Given the description of an element on the screen output the (x, y) to click on. 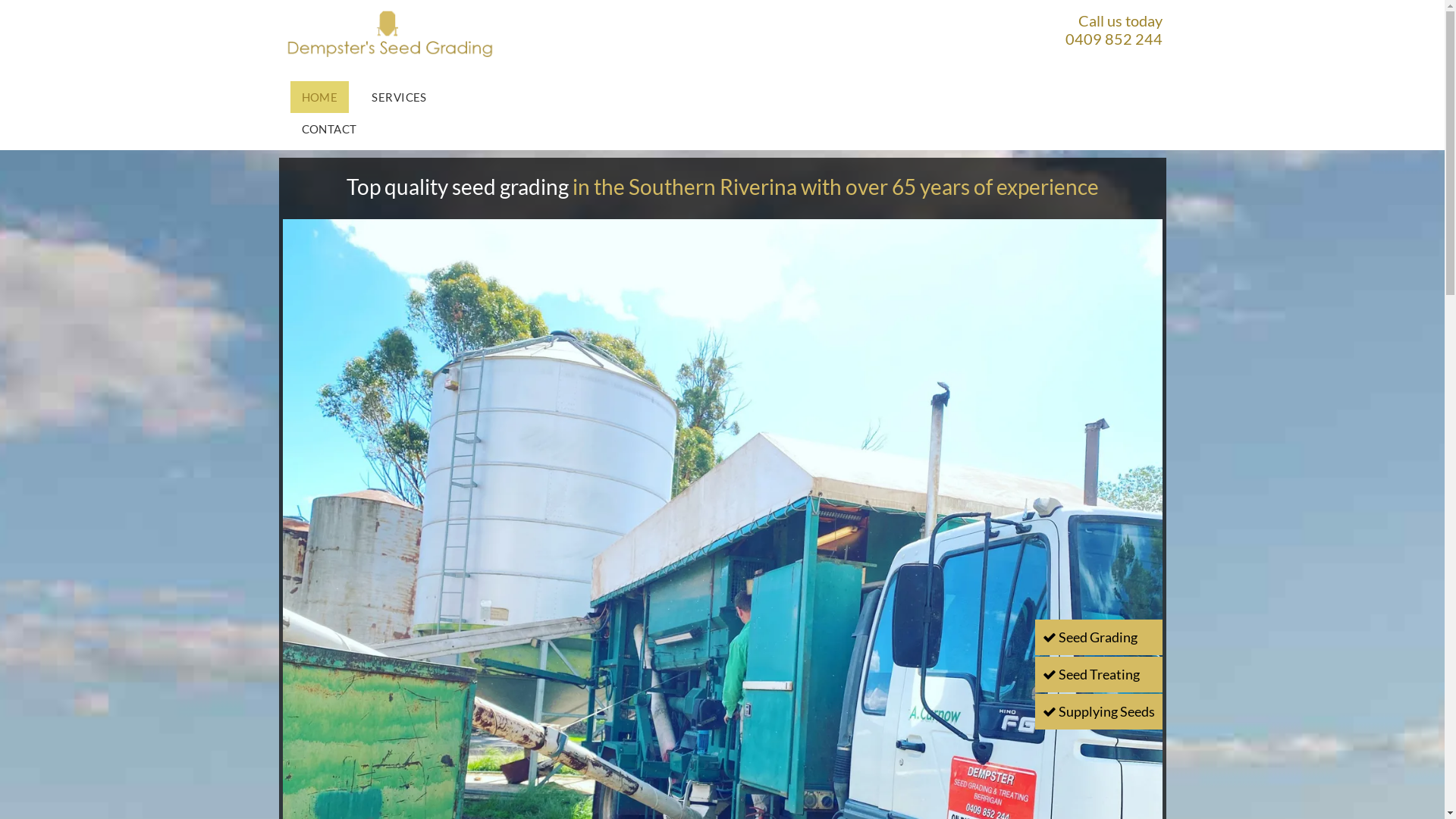
SERVICES Element type: text (399, 96)
CONTACT Element type: text (328, 128)
0409 852 244 Element type: text (1112, 38)
HOME Element type: text (318, 96)
dempsters seed grading logo Element type: hover (389, 33)
